Given the description of an element on the screen output the (x, y) to click on. 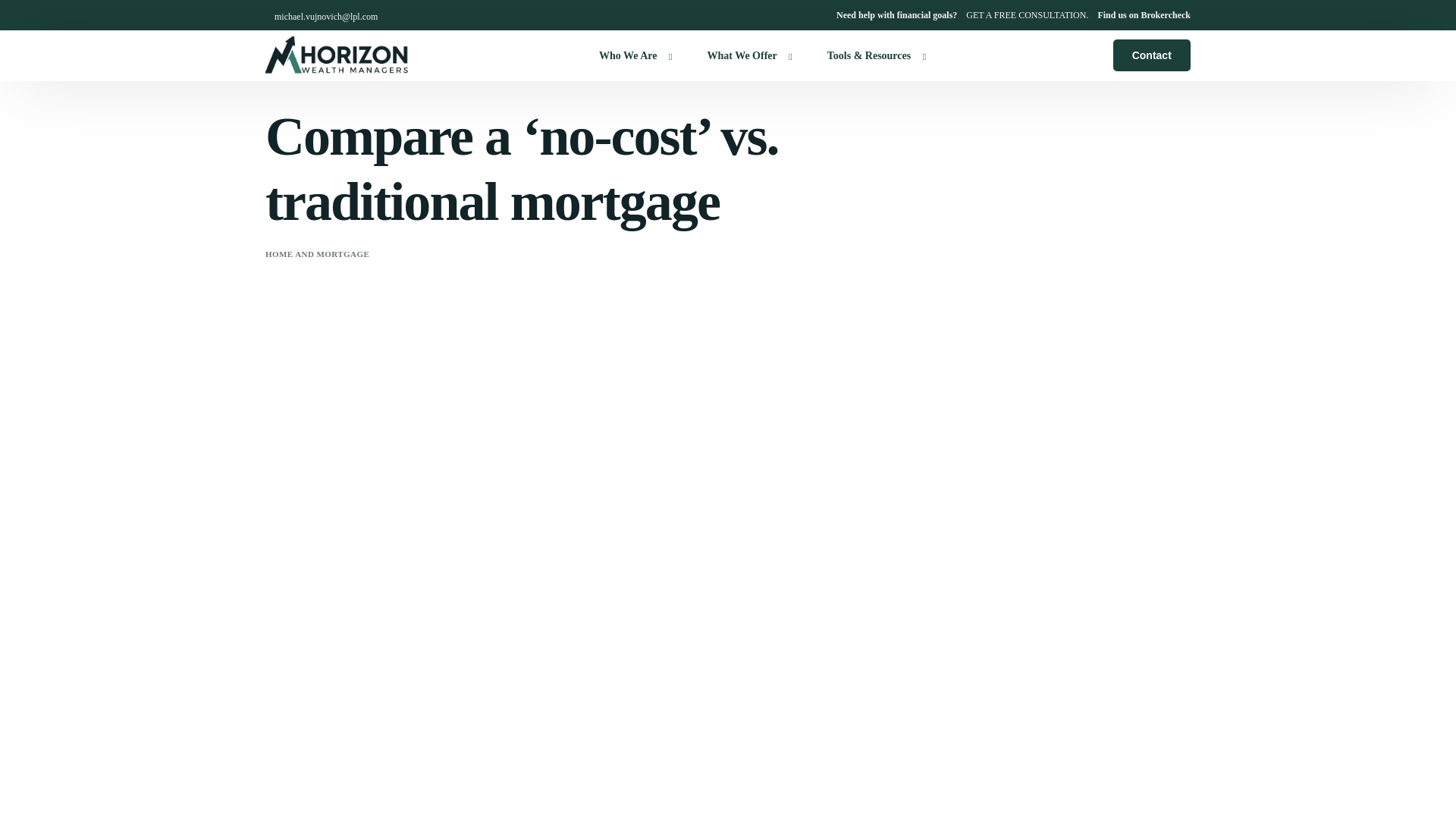
Find us on Brokercheck (1144, 14)
GET A FREE CONSULTATION. (1026, 14)
HOME AND MORTGAGE (316, 253)
What We Offer (745, 55)
Contact (1152, 55)
Who We Are (631, 55)
